Given the description of an element on the screen output the (x, y) to click on. 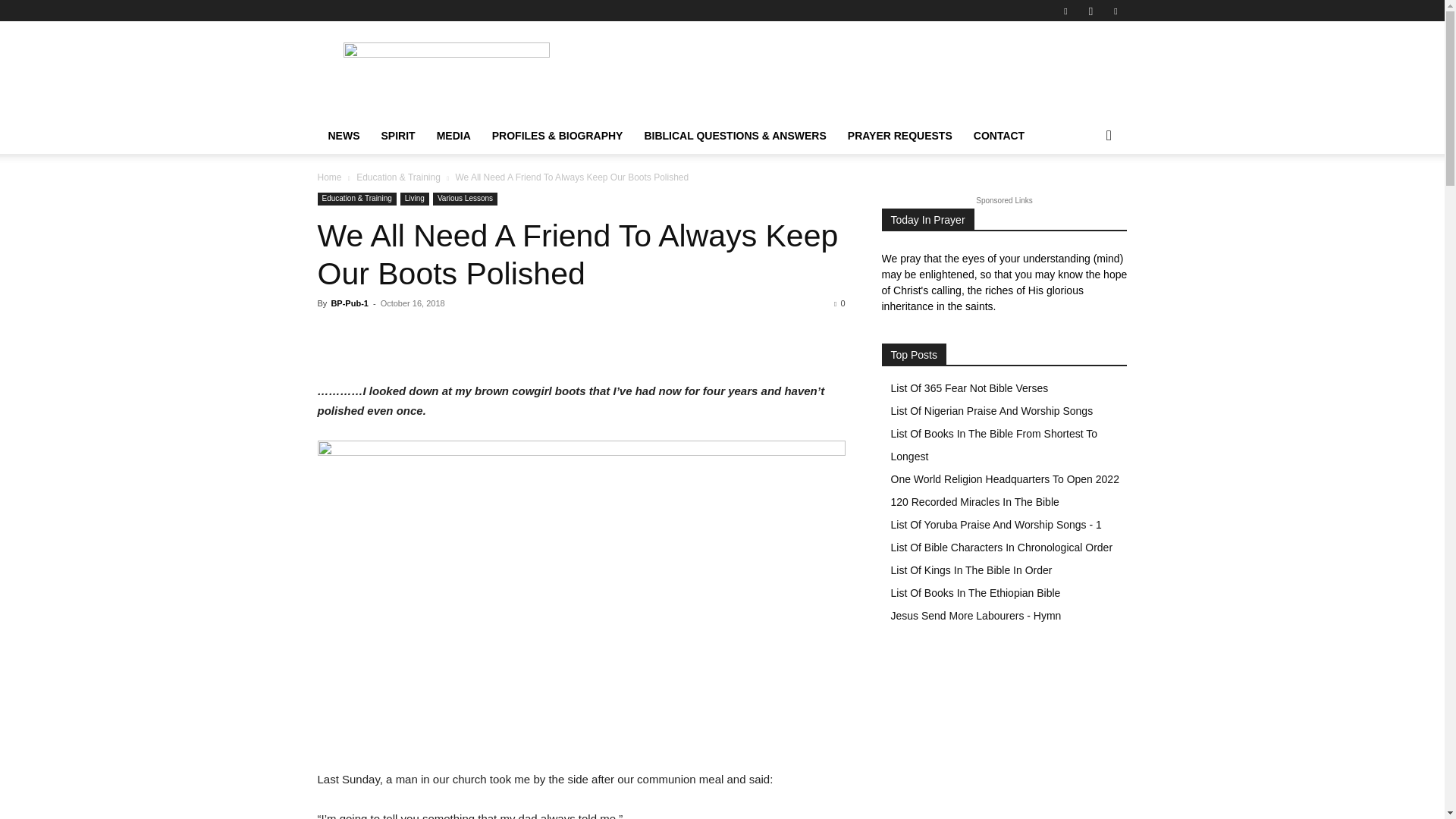
NEWS (343, 135)
Facebook (1065, 10)
PRAYER REQUESTS (899, 135)
SPIRIT (397, 135)
MEDIA (453, 135)
Twitter (1114, 10)
Instagram (1090, 10)
